Given the description of an element on the screen output the (x, y) to click on. 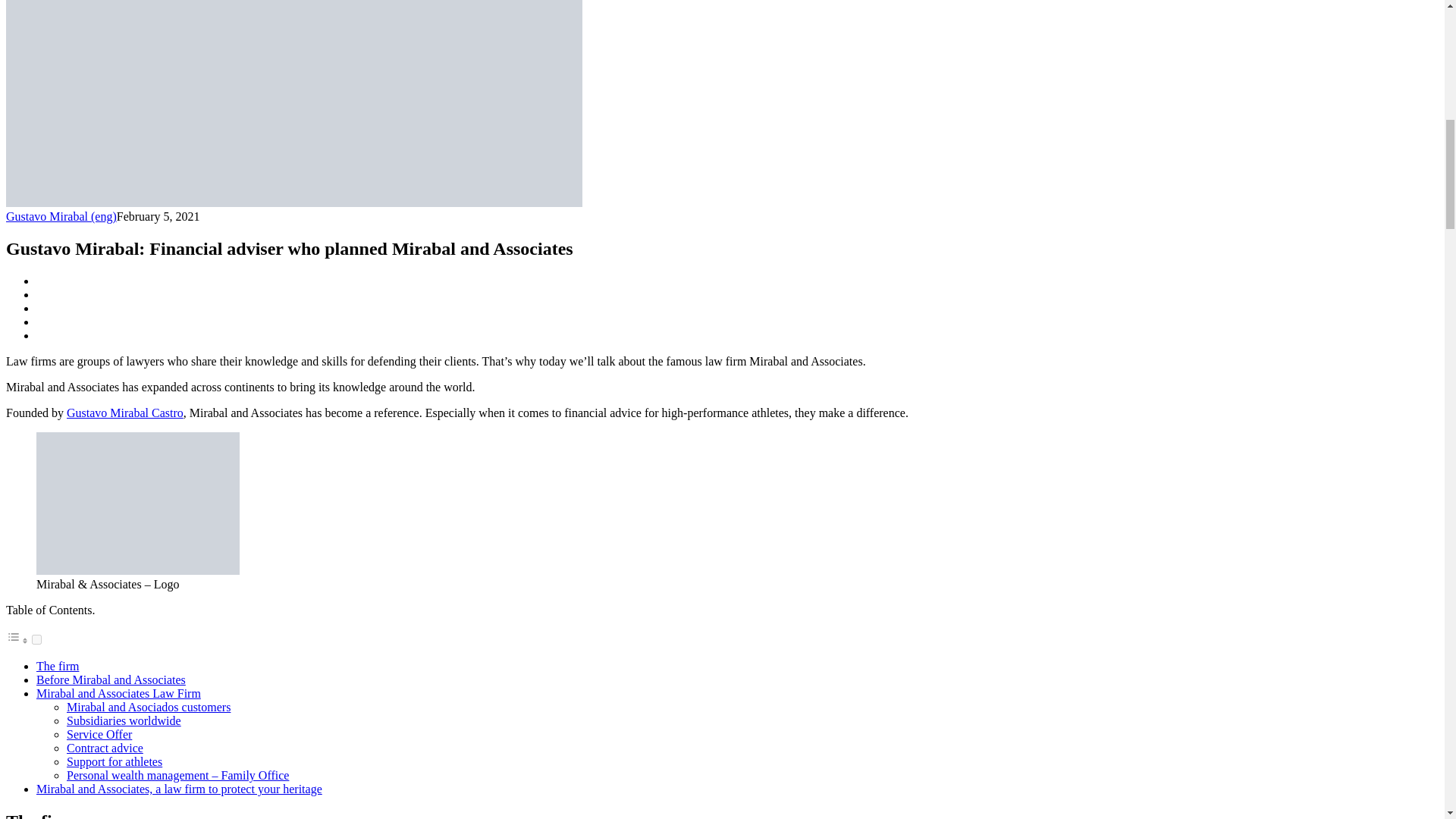
Subsidiaries worldwide (123, 720)
Service Offer (99, 734)
Contract advice (104, 748)
Support for athletes (113, 761)
Before Mirabal and Associates (111, 679)
Mirabal and Associates Law Firm (118, 693)
Mirabal and Associates, a law firm to protect your heritage (178, 788)
The firm (57, 666)
Mirabal and Asociados customers (148, 707)
on (37, 639)
